Given the description of an element on the screen output the (x, y) to click on. 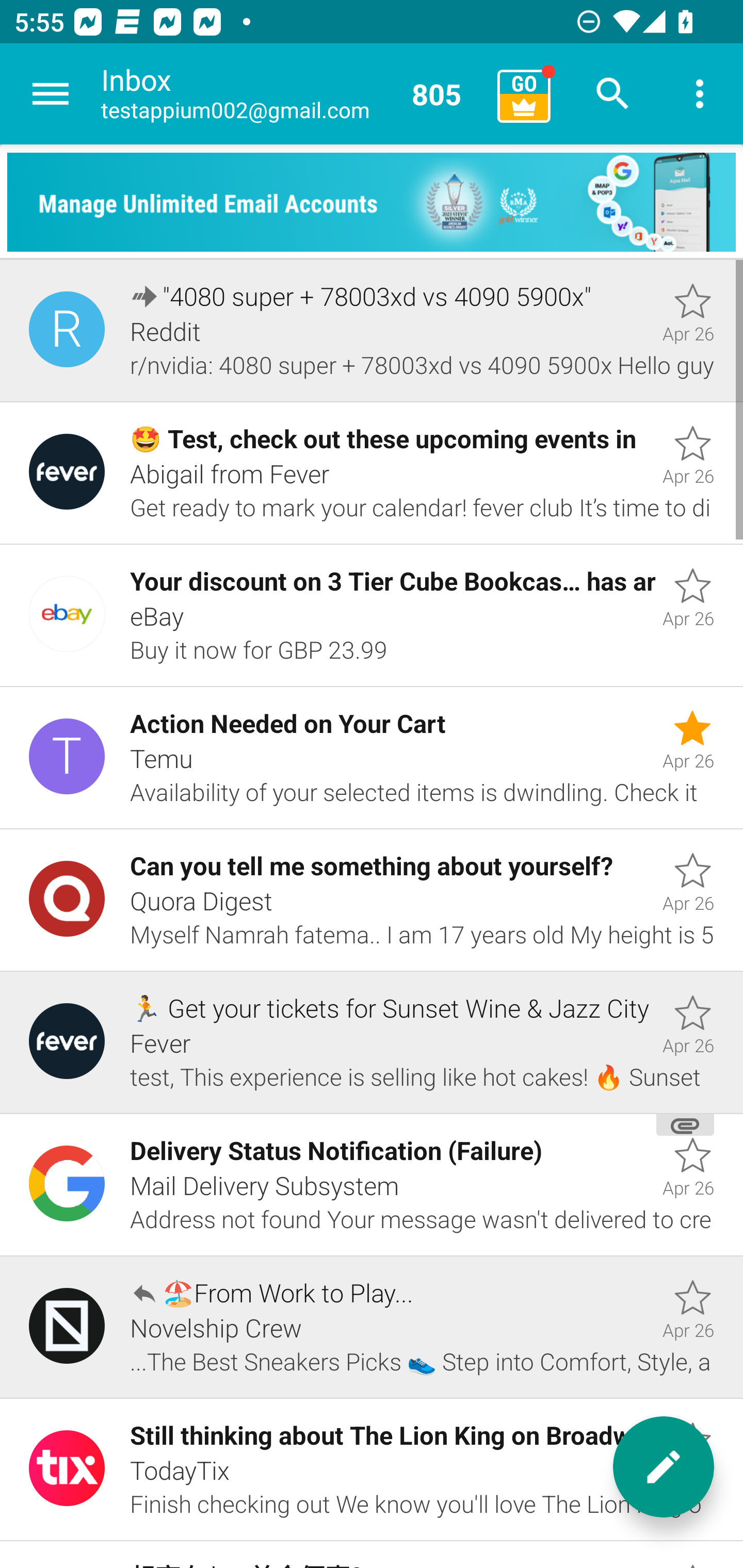
Navigate up (50, 93)
Inbox testappium002@gmail.com 805 (291, 93)
Search (612, 93)
More options (699, 93)
New message (663, 1466)
